Given the description of an element on the screen output the (x, y) to click on. 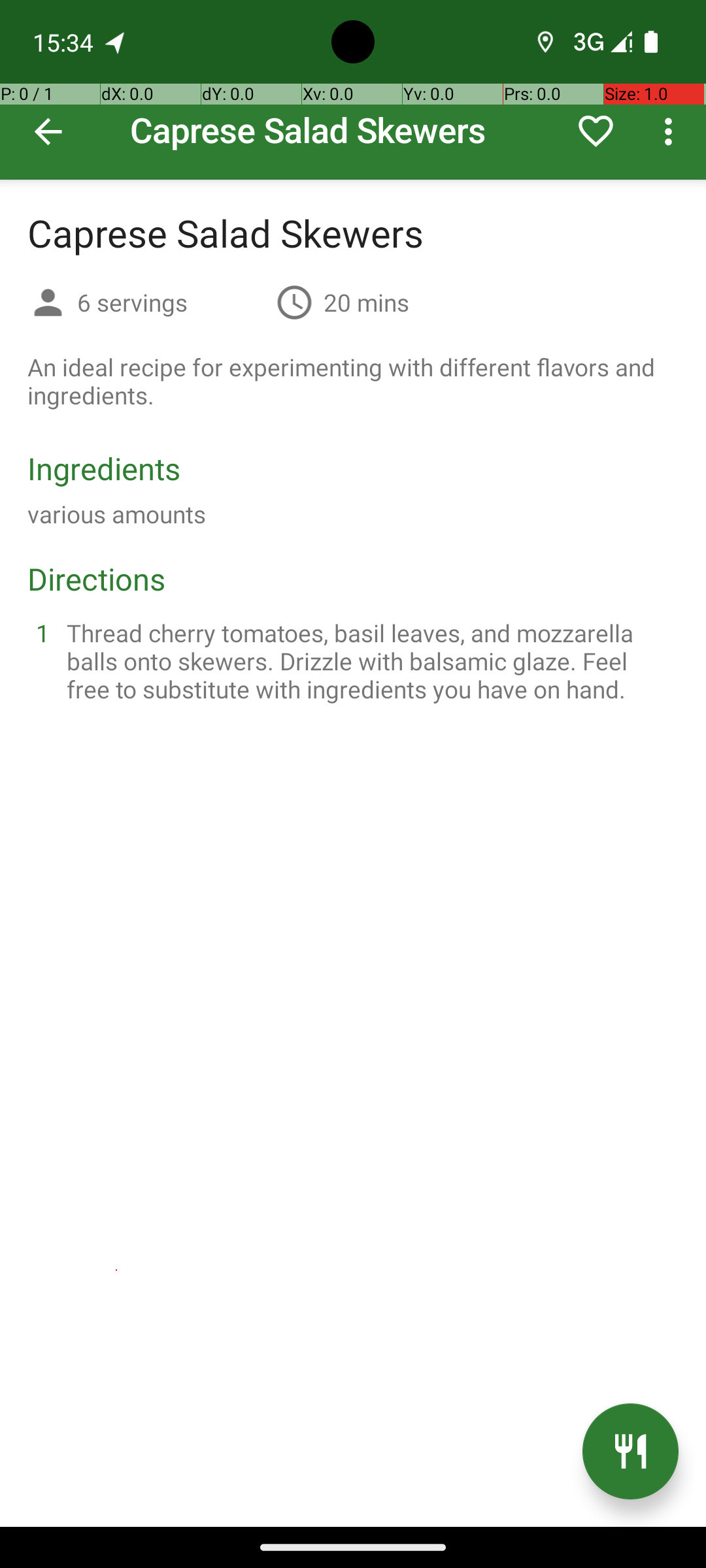
various amounts Element type: android.widget.TextView (116, 513)
Thread cherry tomatoes, basil leaves, and mozzarella balls onto skewers. Drizzle with balsamic glaze. Feel free to substitute with ingredients you have on hand. Element type: android.widget.TextView (368, 660)
